Given the description of an element on the screen output the (x, y) to click on. 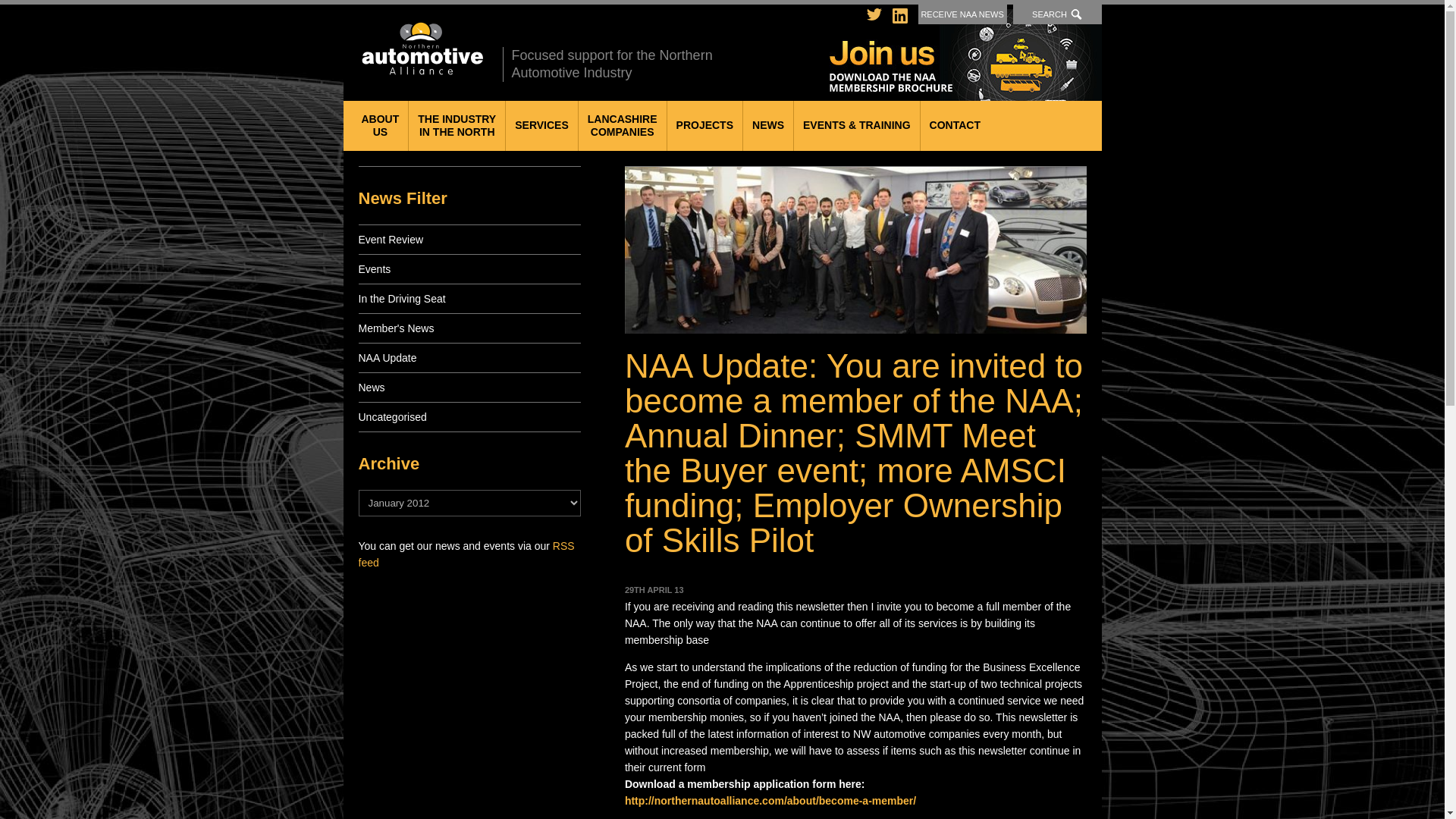
RECEIVE NAA NEWS (962, 14)
SEARCH (1057, 14)
SERVICES (541, 125)
Join us - Download the NAA membership brochure (965, 54)
PROJECTS (704, 125)
Northern Automotive Alliance (420, 49)
